Given the description of an element on the screen output the (x, y) to click on. 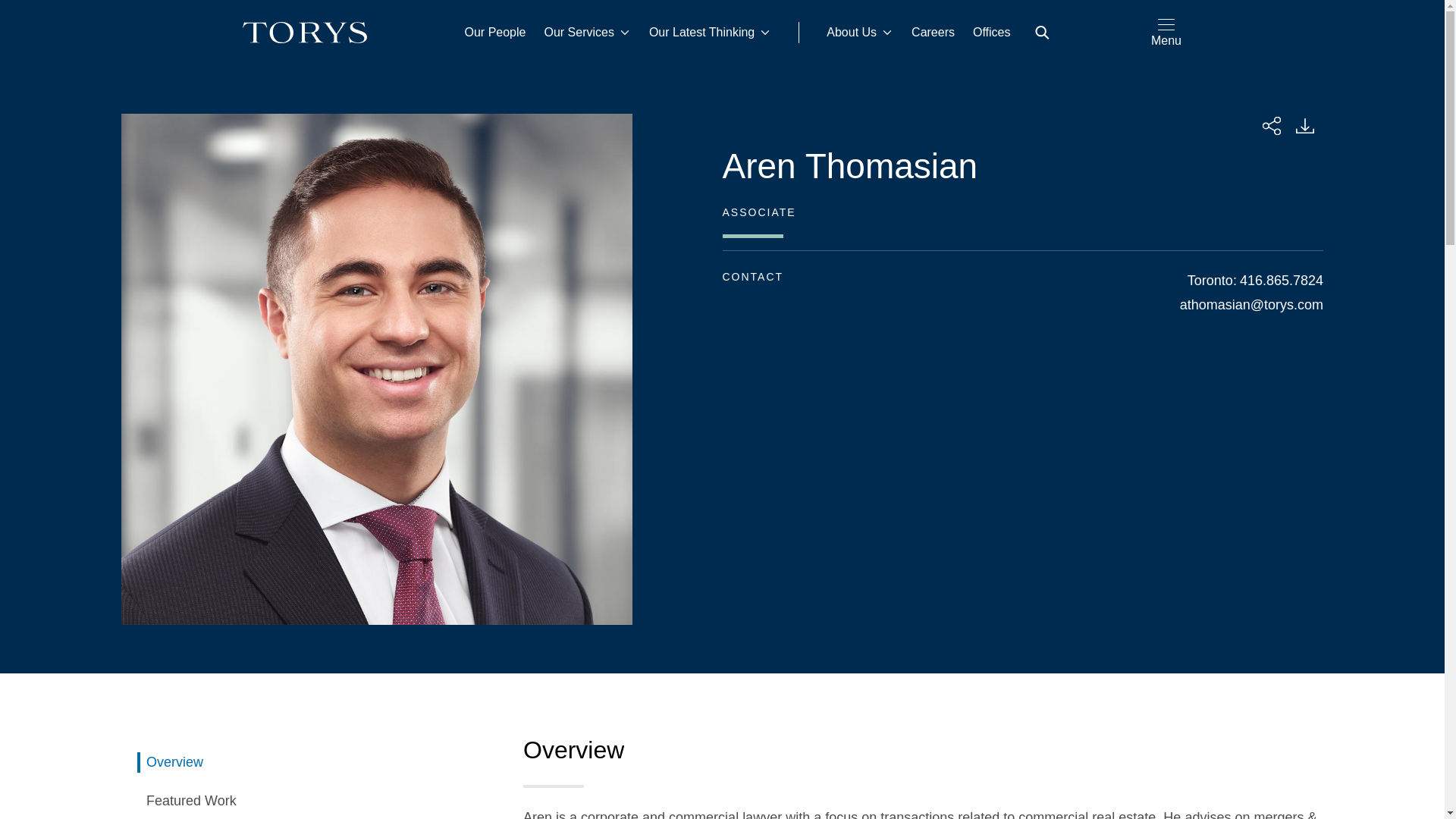
416.865.7824 (1281, 280)
Our Latest Thinking (710, 32)
About Us (859, 32)
Offices (991, 32)
Our People (495, 32)
Our Services (586, 32)
Careers (932, 32)
Overview (307, 762)
Menu (1166, 32)
Share (1271, 126)
